Given the description of an element on the screen output the (x, y) to click on. 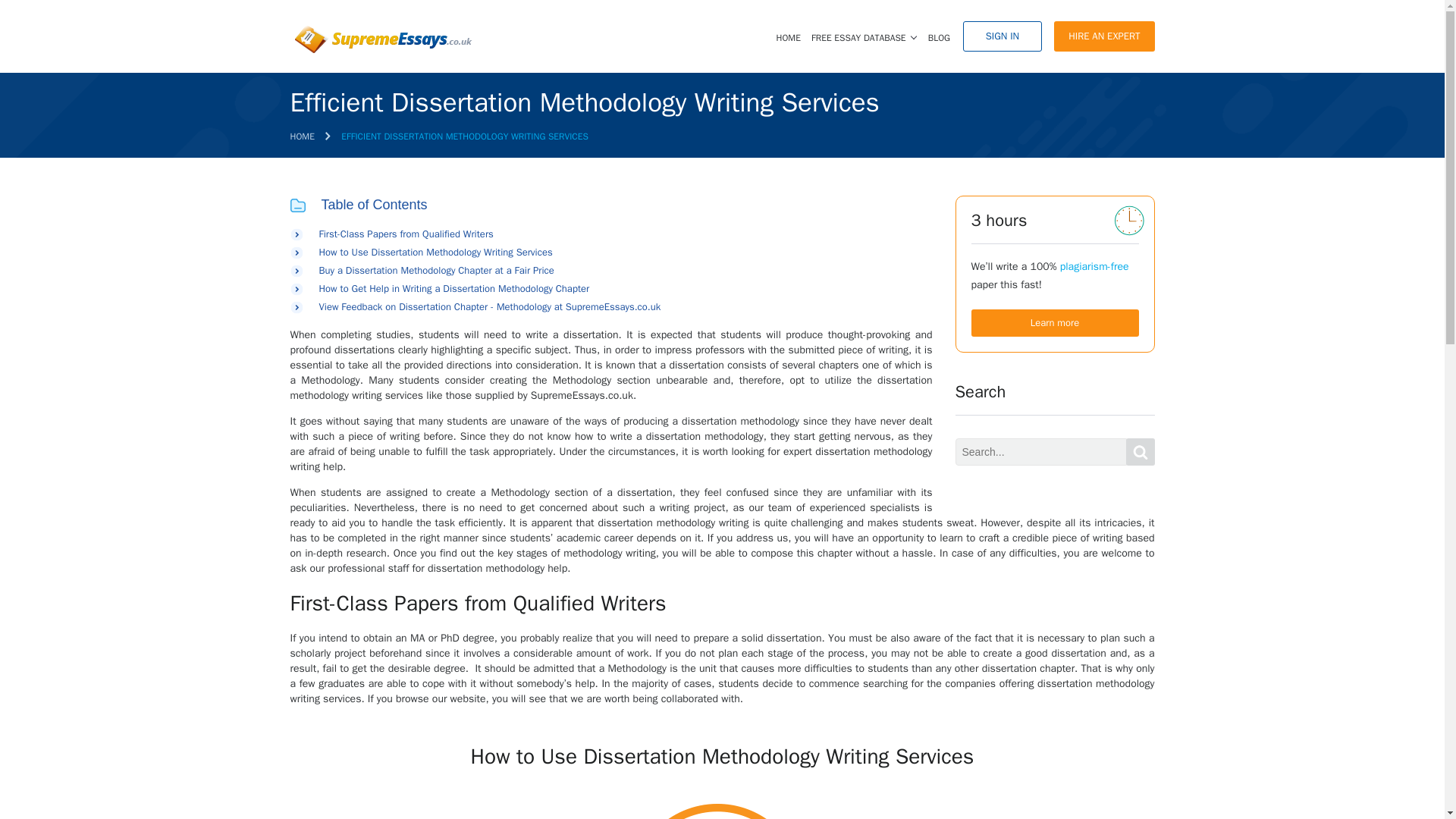
plagiarism-free (1094, 266)
BLOG (938, 37)
First-Class Papers from Qualified Writers (405, 233)
Buy a Dissertation Methodology Chapter at a Fair Price (435, 269)
Supremeessays.co.uk (380, 39)
How to Use Dissertation Methodology Writing Services (434, 251)
HOME (301, 136)
